Given the description of an element on the screen output the (x, y) to click on. 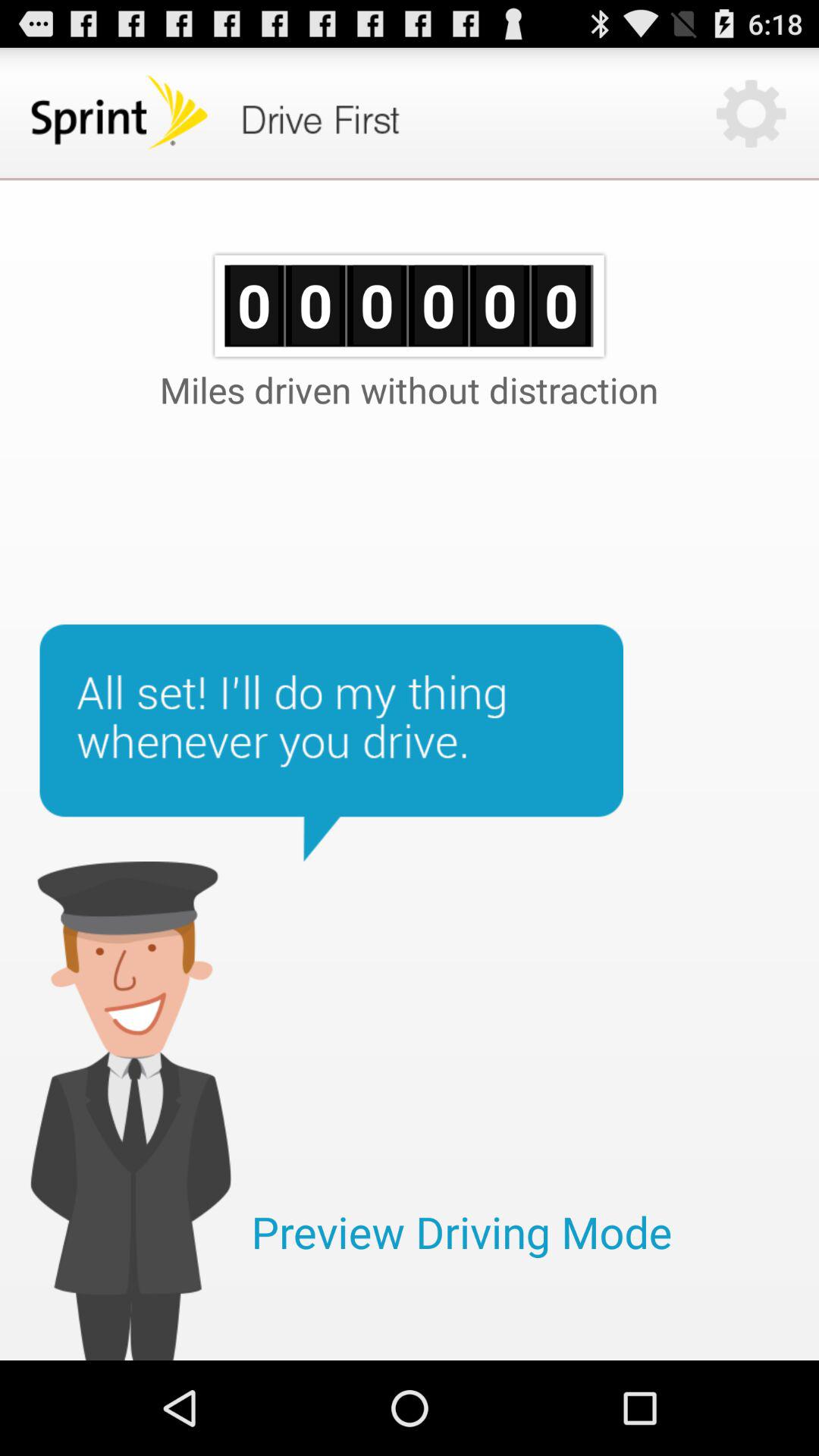
click on the text in blue color box above the image (331, 742)
click on the blue color text at bottom of the page (461, 1231)
click the settings button on the top right corner of the web page (751, 113)
